Given the description of an element on the screen output the (x, y) to click on. 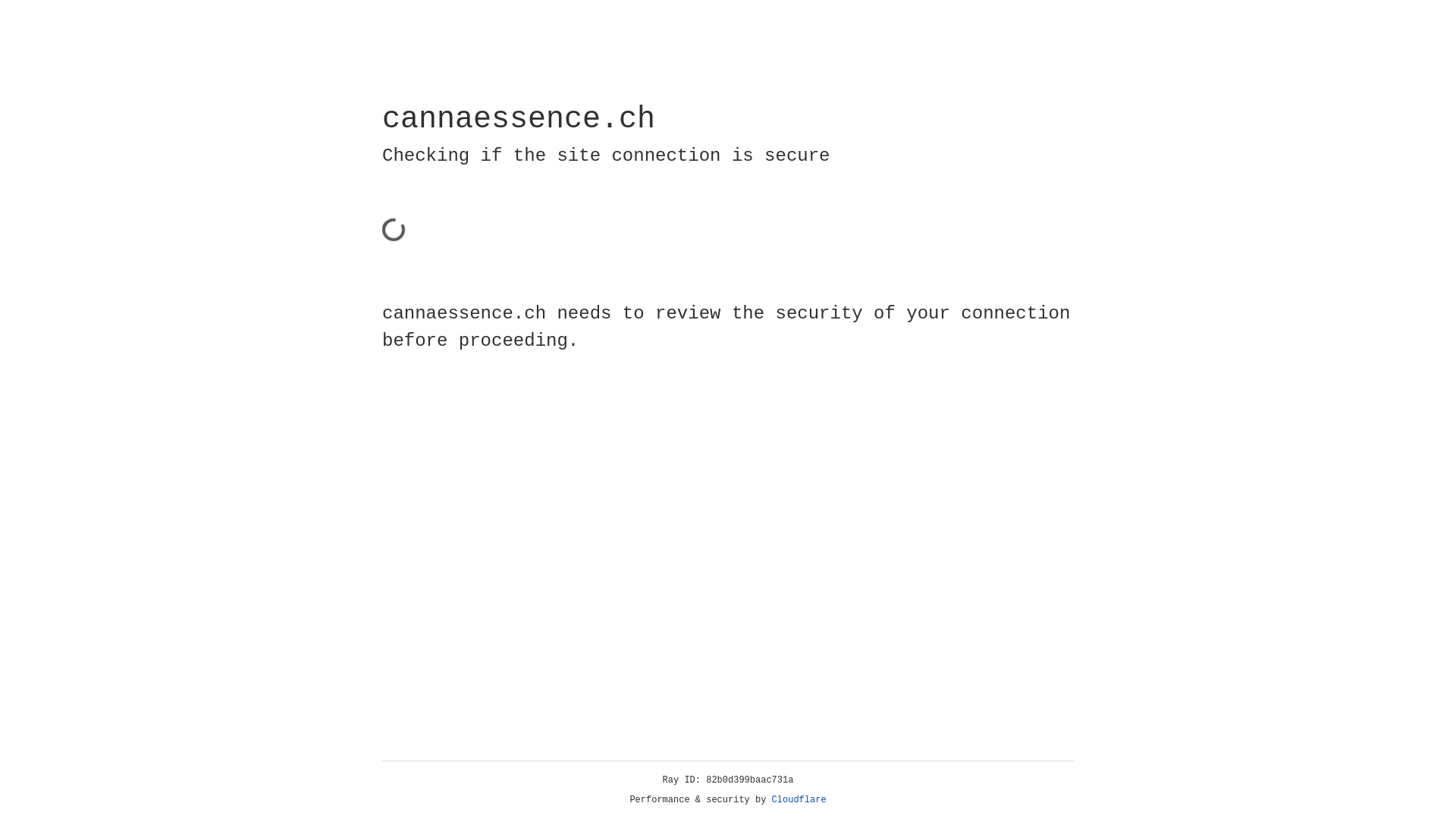
Cloudflare Element type: text (798, 799)
